Given the description of an element on the screen output the (x, y) to click on. 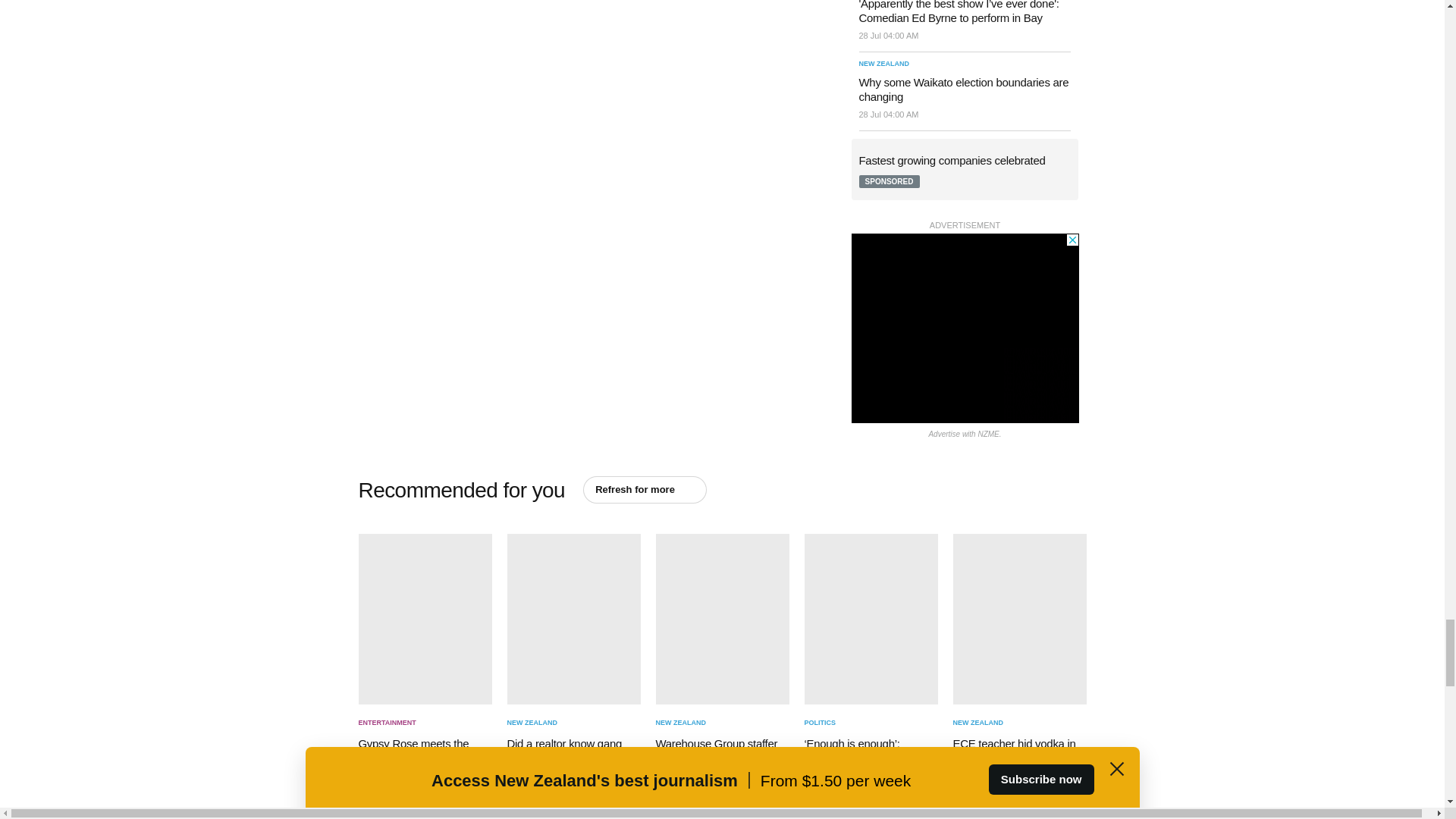
3rd party ad content (964, 328)
